Given the description of an element on the screen output the (x, y) to click on. 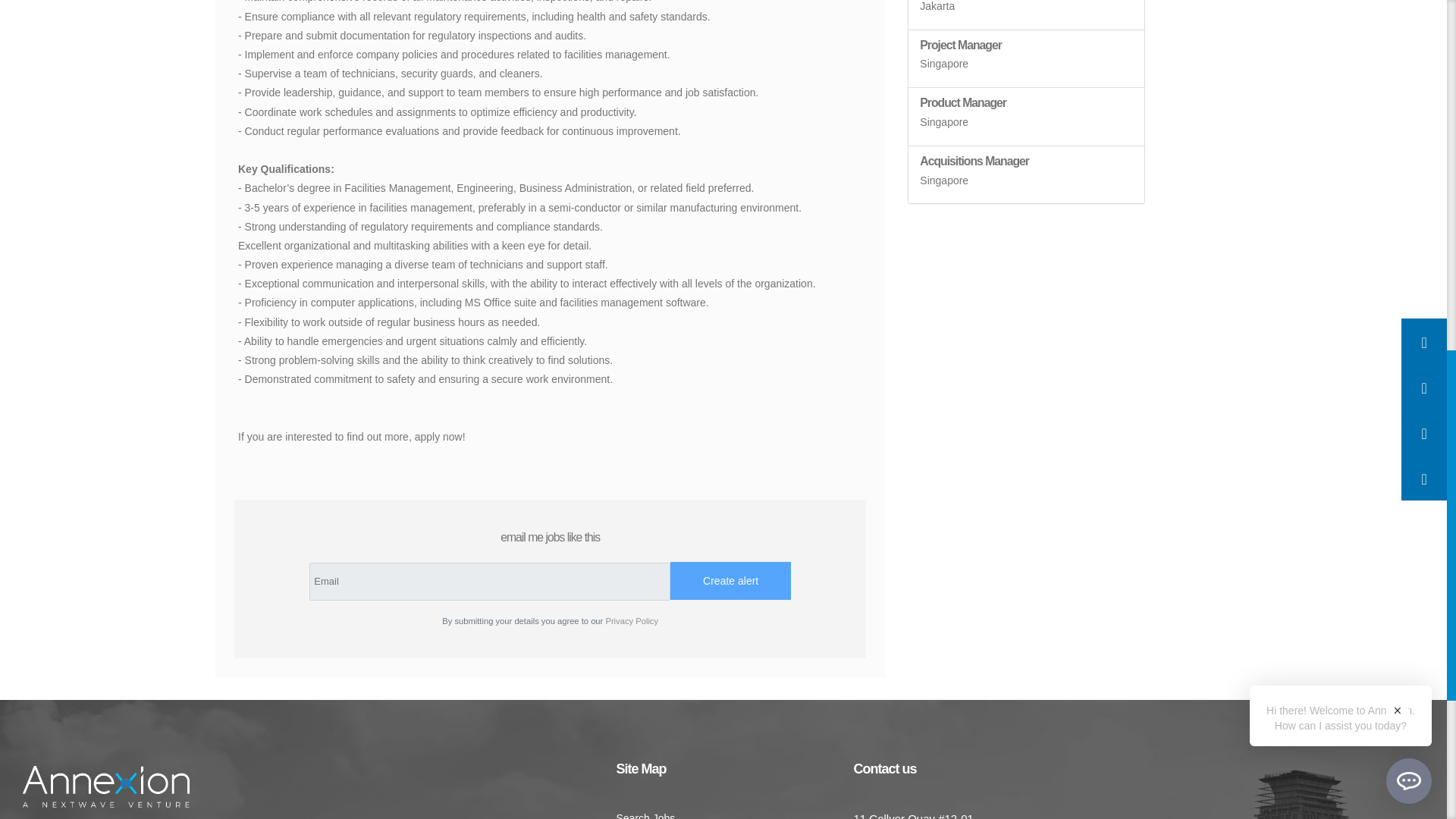
Privacy Policy (631, 620)
Create alert (729, 580)
Go to the Homepage (106, 787)
